Given the description of an element on the screen output the (x, y) to click on. 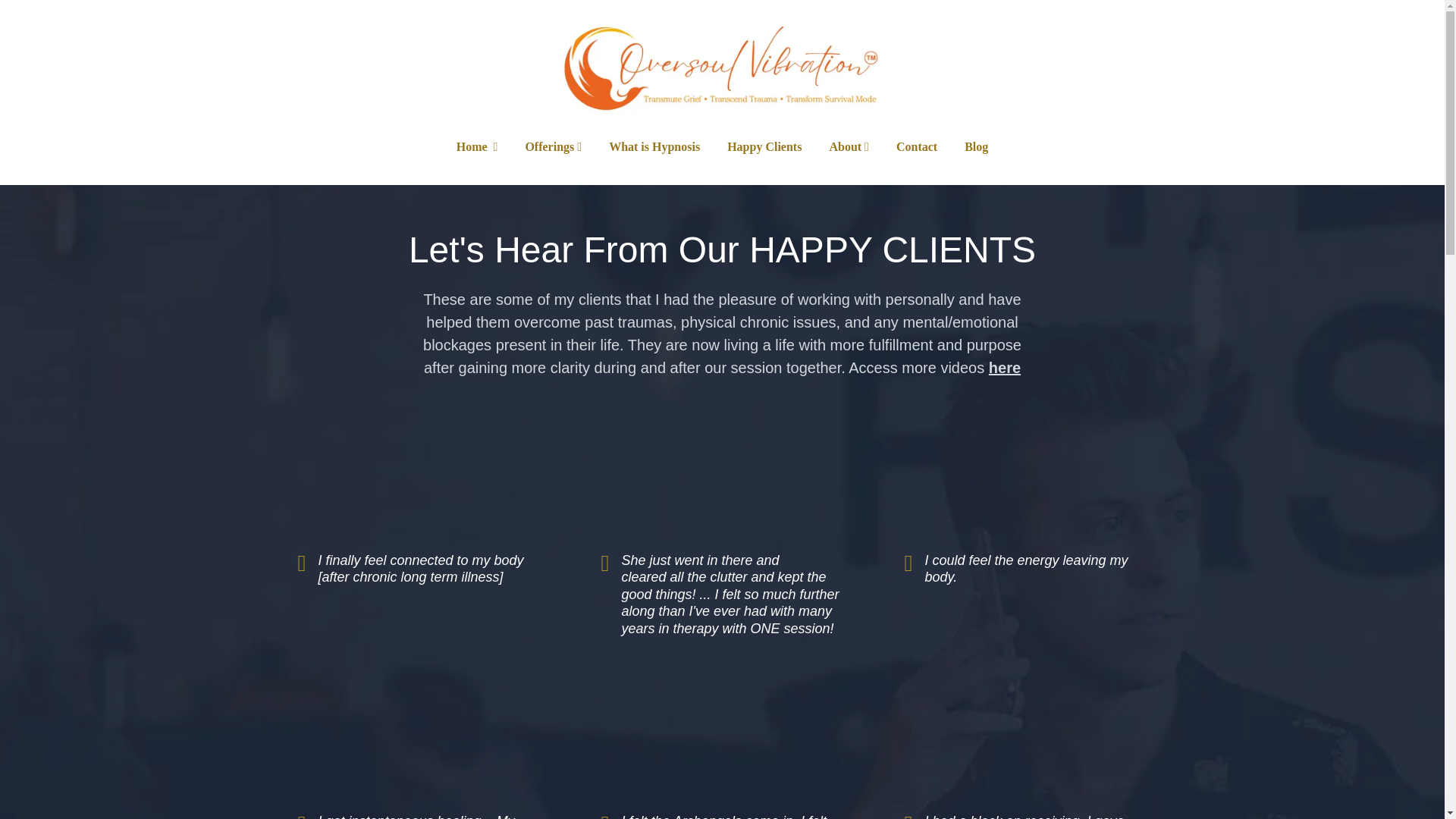
here (1004, 367)
Home (477, 146)
Happy Clients (764, 146)
Contact (916, 146)
Blog (975, 146)
Offerings (548, 146)
About (844, 146)
What is Hypnosis (654, 146)
